Given the description of an element on the screen output the (x, y) to click on. 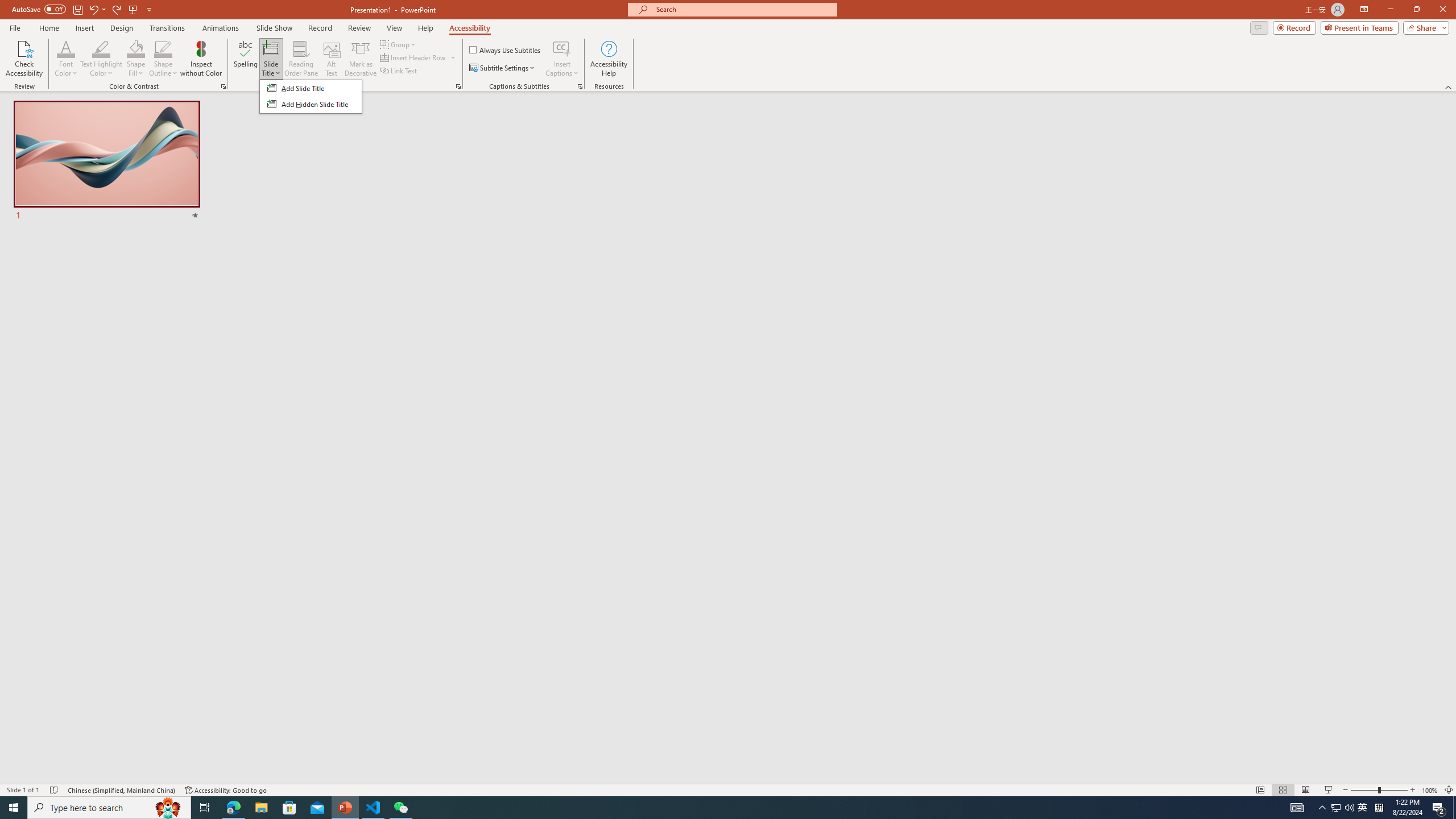
Mark as Decorative (360, 58)
Zoom 100% (1430, 790)
